Given the description of an element on the screen output the (x, y) to click on. 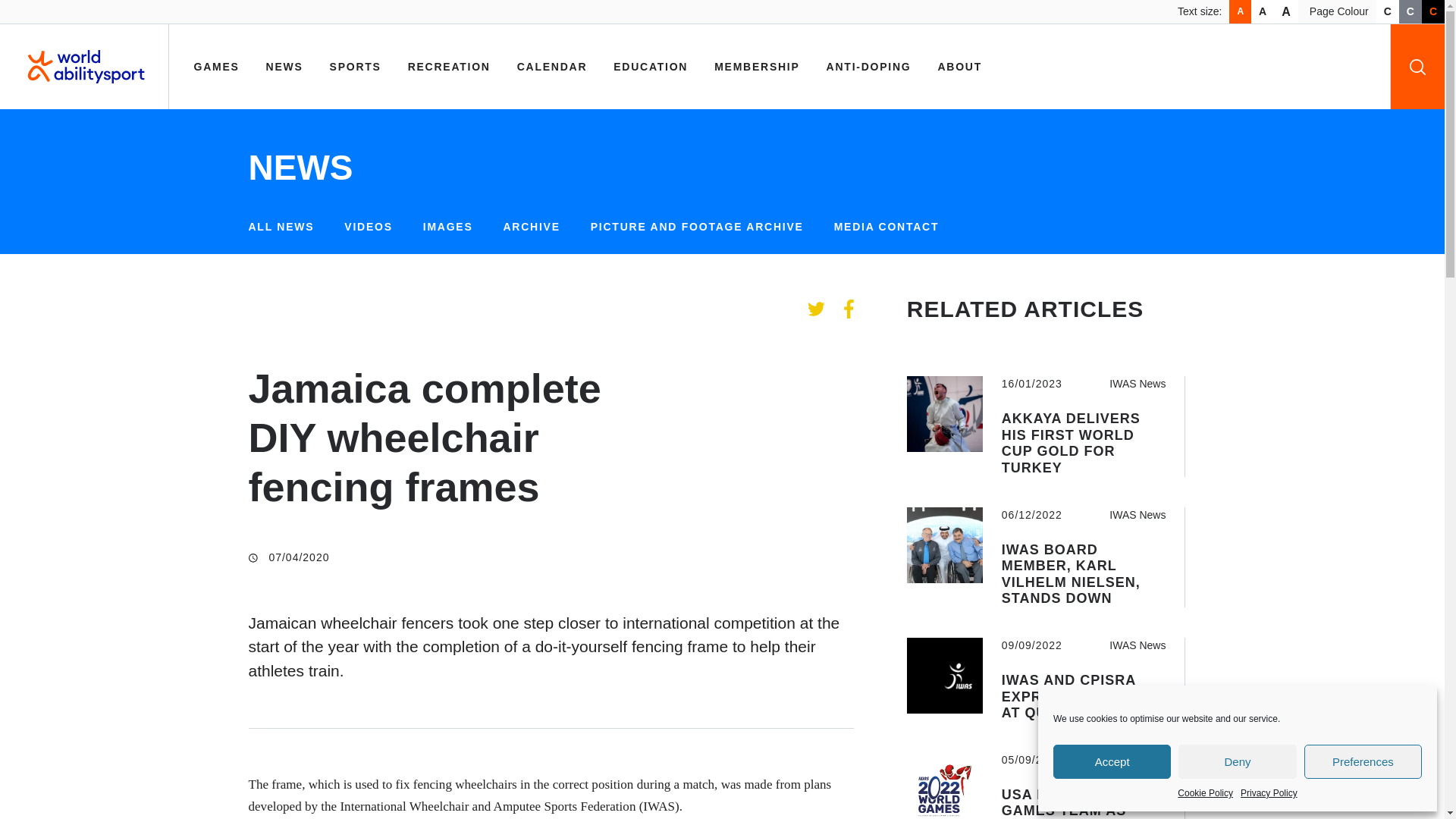
A (1286, 11)
Cookie Policy (1205, 793)
Page background color white (1387, 11)
Text size large (1286, 11)
Preferences (1363, 761)
Page background color gray (1410, 11)
Text size medium (1262, 11)
C (1410, 11)
A (1239, 11)
Privacy Policy (1268, 793)
